Given the description of an element on the screen output the (x, y) to click on. 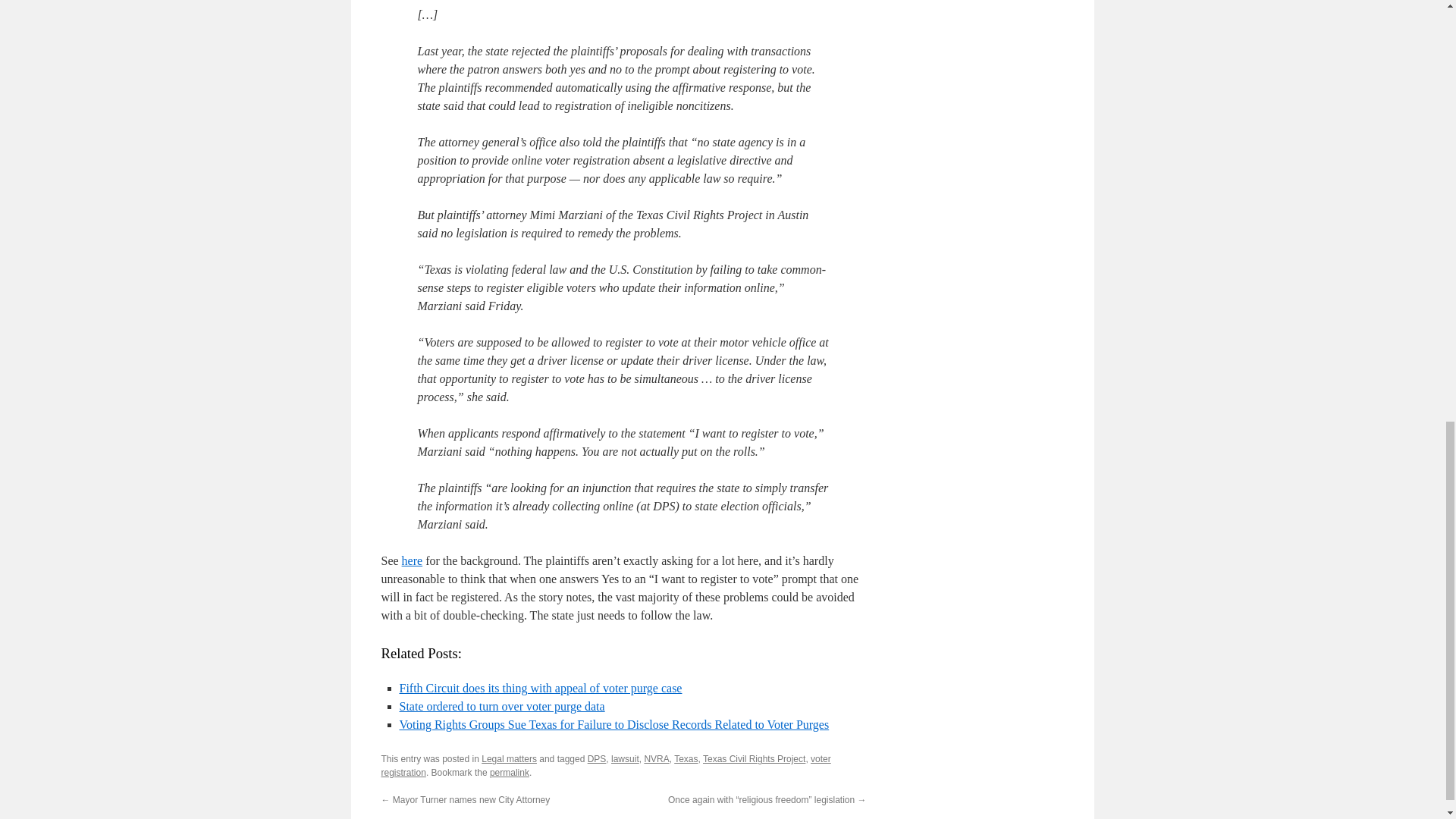
Fifth Circuit does its thing with appeal of voter purge case (539, 687)
Fifth Circuit does its thing with appeal of voter purge case (539, 687)
Permalink to More on the TCRP voter registration lawsuit (509, 772)
Texas Civil Rights Project (754, 758)
here (412, 560)
Texas (685, 758)
State ordered to turn over voter purge data (501, 706)
lawsuit (625, 758)
DPS (597, 758)
NVRA (655, 758)
permalink (509, 772)
Legal matters (509, 758)
State ordered to turn over voter purge data (501, 706)
